Given the description of an element on the screen output the (x, y) to click on. 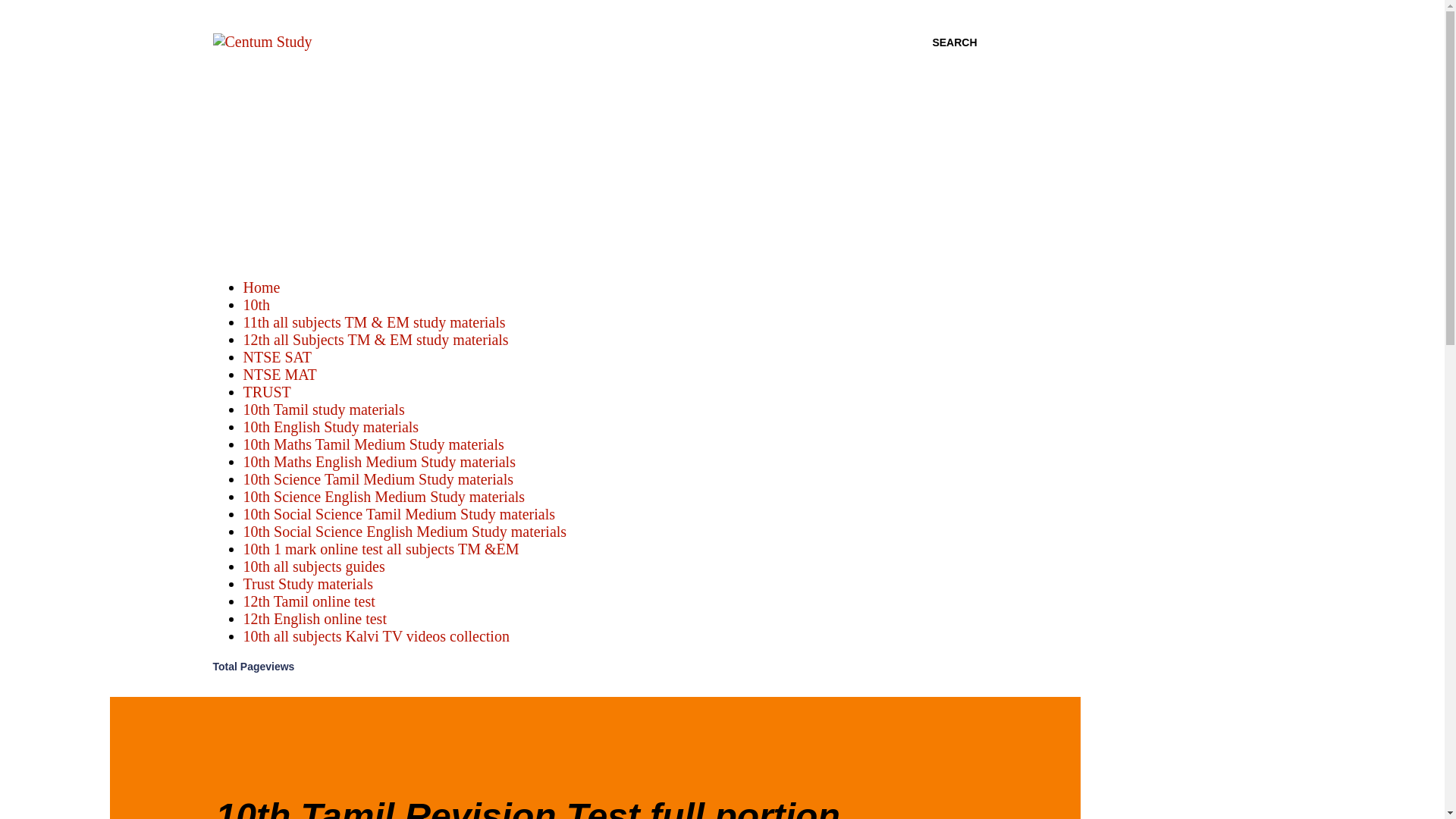
10th Tamil study materials (323, 409)
10th Social Science Tamil Medium Study materials (398, 514)
Trust Study materials (307, 583)
10th Science Tamil Medium Study materials (378, 478)
10th (256, 304)
NTSE MAT (279, 374)
10th Social Science English Medium Study materials (404, 531)
12th English online test (314, 618)
SEARCH (953, 42)
TRUST (266, 392)
